Given the description of an element on the screen output the (x, y) to click on. 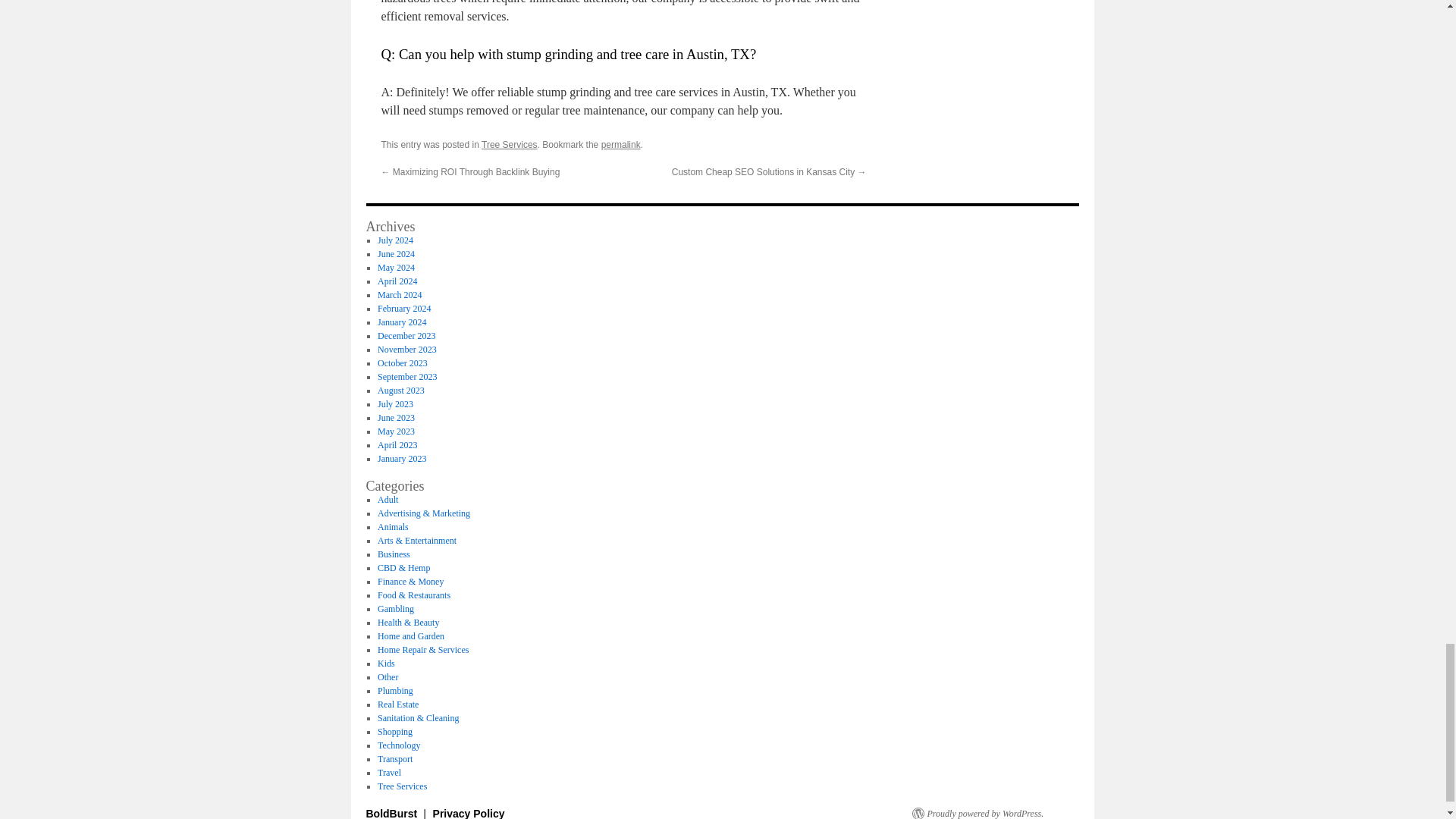
July 2024 (395, 240)
June 2023 (395, 417)
permalink (620, 144)
August 2023 (401, 389)
February 2024 (403, 308)
Adult (387, 499)
July 2023 (395, 403)
May 2023 (395, 430)
January 2024 (401, 321)
October 2023 (402, 362)
April 2023 (396, 444)
January 2023 (401, 458)
June 2024 (395, 253)
April 2024 (396, 281)
November 2023 (406, 348)
